Given the description of an element on the screen output the (x, y) to click on. 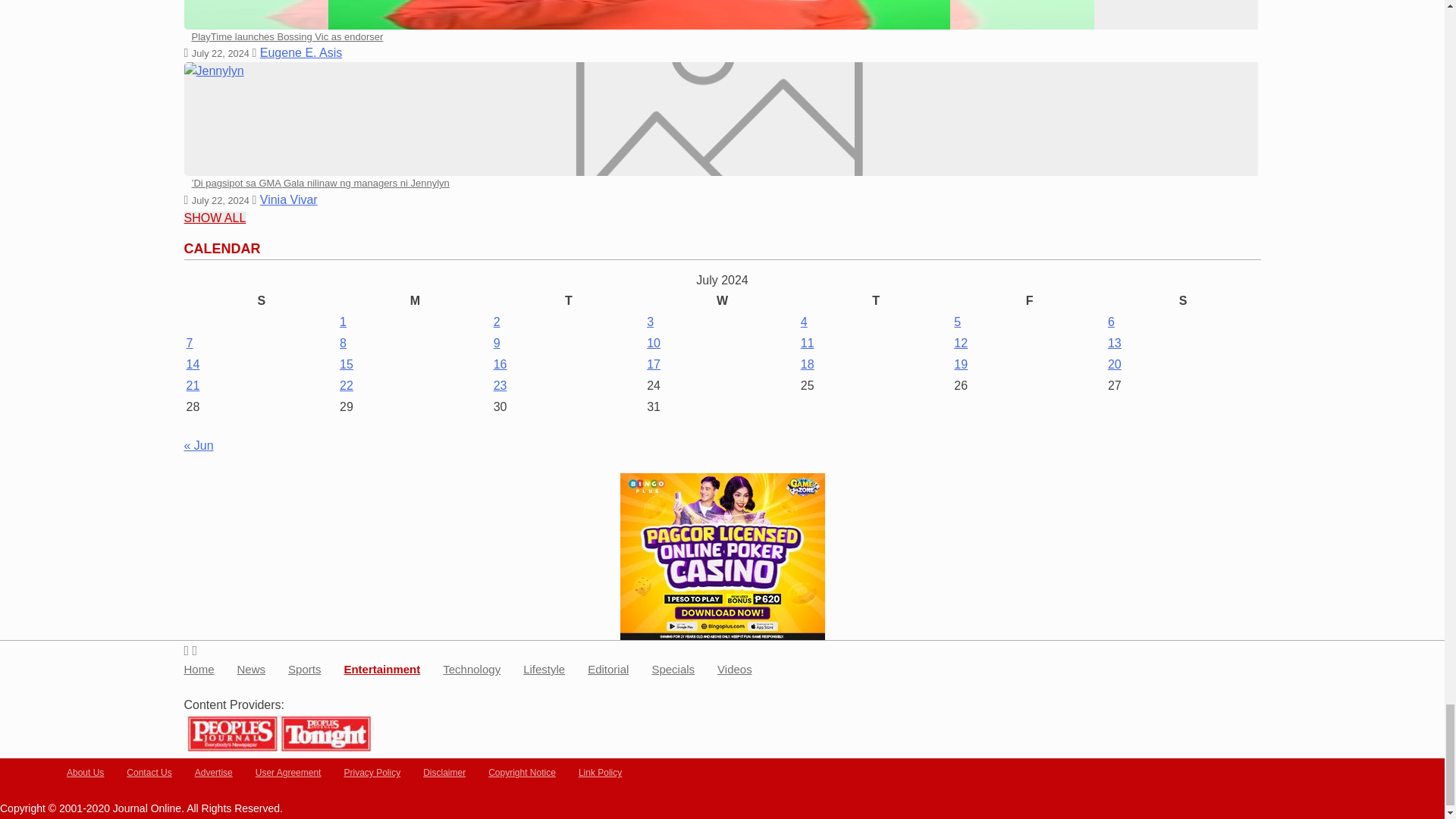
Sunday (260, 301)
Tuesday (569, 301)
Friday (1029, 301)
Saturday (1182, 301)
Monday (415, 301)
Wednesday (721, 301)
Thursday (875, 301)
